Given the description of an element on the screen output the (x, y) to click on. 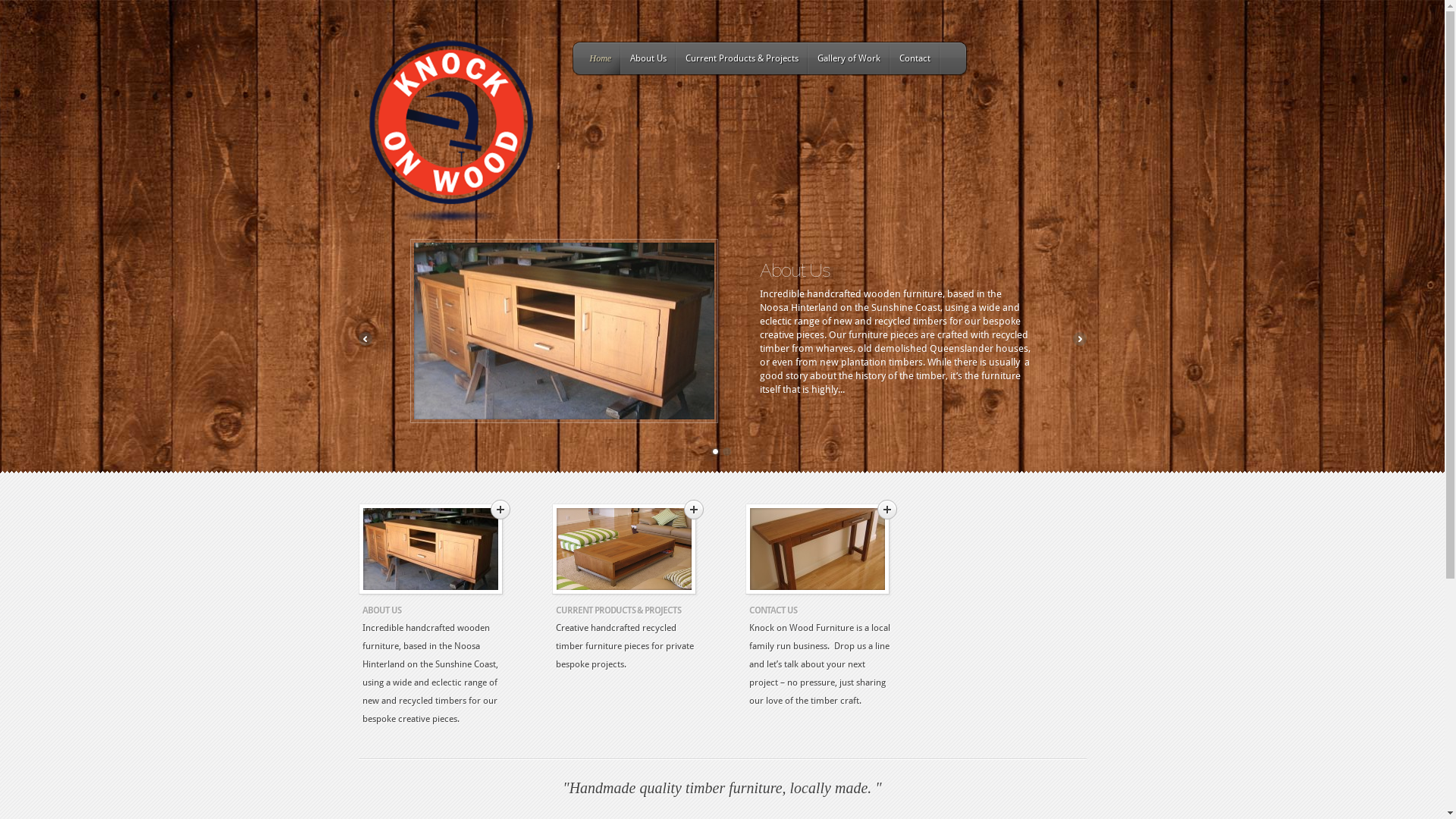
About Us Element type: text (794, 270)
Contact Element type: text (914, 57)
Home Element type: text (600, 57)
About Us Element type: text (648, 57)
CURRENT PRODUCTS & PROJECTS Element type: text (617, 610)
Next Element type: text (1078, 338)
Current Products & Projects Element type: text (741, 57)
ABOUT US Element type: text (381, 610)
2 Element type: text (725, 451)
Previous Element type: text (364, 338)
CONTACT US Element type: text (773, 610)
Gallery of Work Element type: text (848, 57)
1 Element type: text (715, 451)
